Given the description of an element on the screen output the (x, y) to click on. 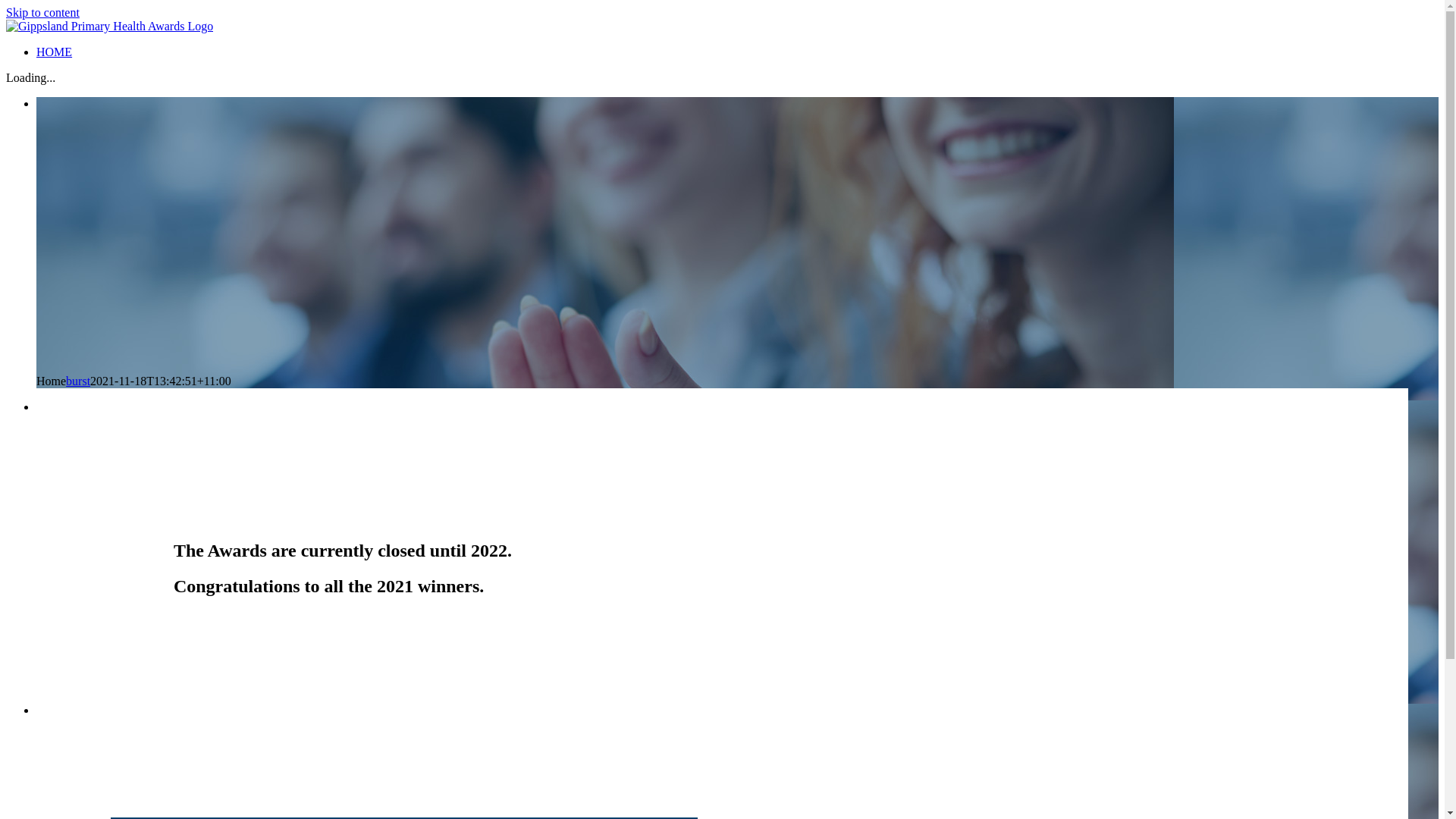
burst Element type: text (77, 380)
Skip to content Element type: text (42, 12)
HOME Element type: text (54, 51)
